Given the description of an element on the screen output the (x, y) to click on. 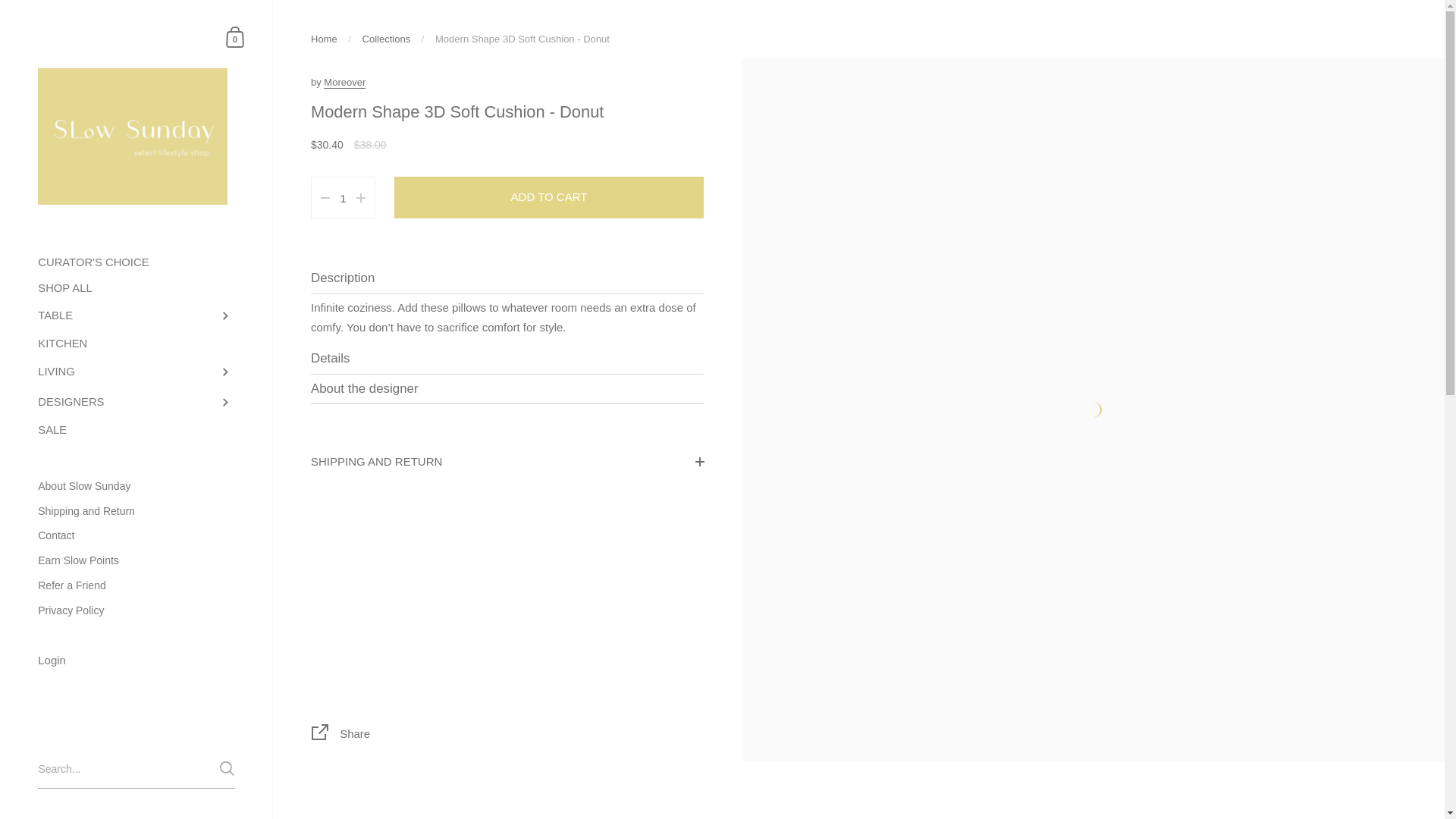
CURATOR'S CHOICE (136, 263)
KITCHEN (136, 344)
Shopping Cart (235, 35)
Moreover (344, 81)
LIVING (136, 372)
SHOP ALL (136, 289)
1 (342, 198)
TABLE (136, 316)
DESIGNERS (136, 402)
